Given the description of an element on the screen output the (x, y) to click on. 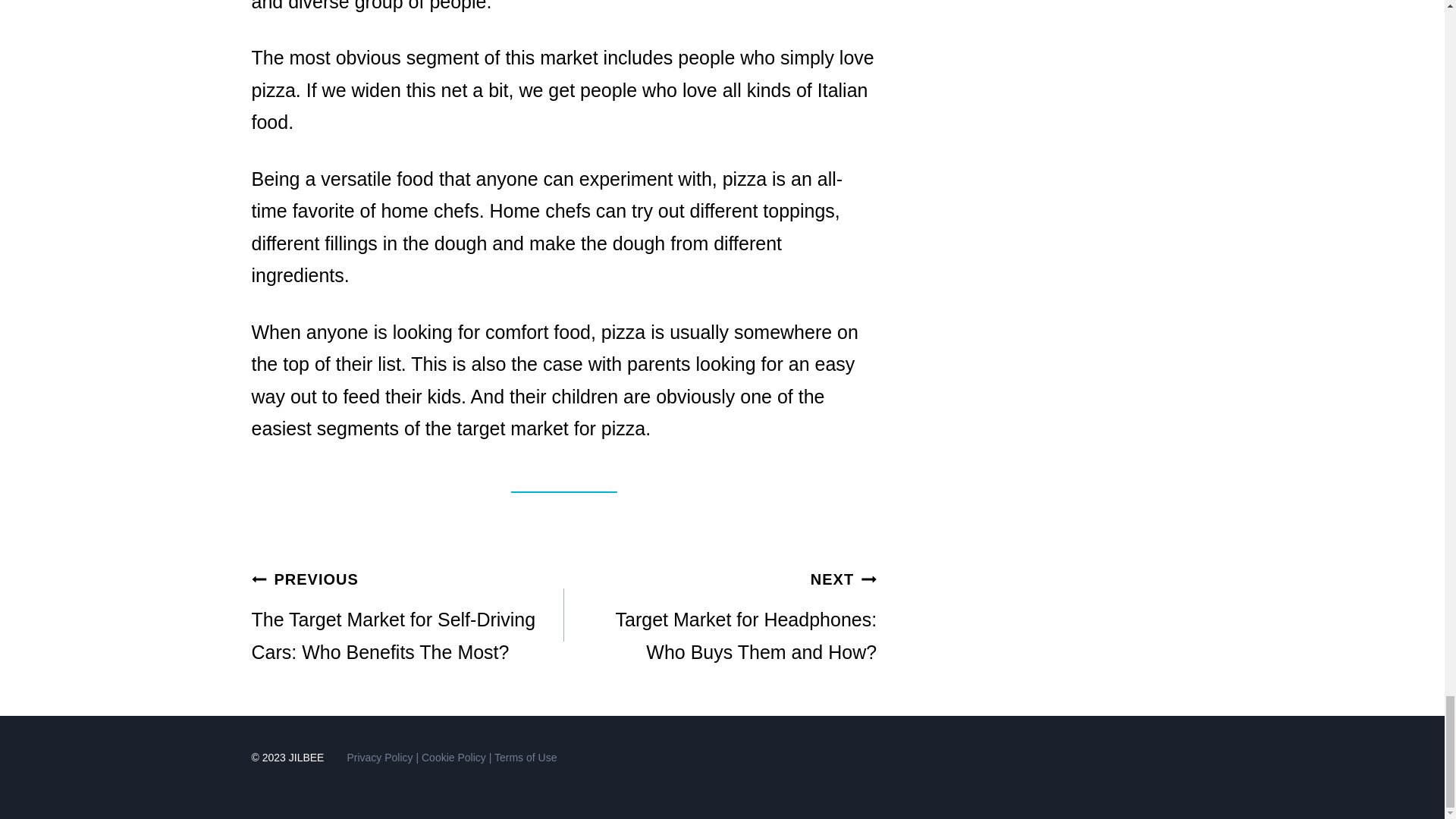
Cookie Policy (454, 757)
Terms of Use (525, 757)
Privacy Policy (720, 614)
